Given the description of an element on the screen output the (x, y) to click on. 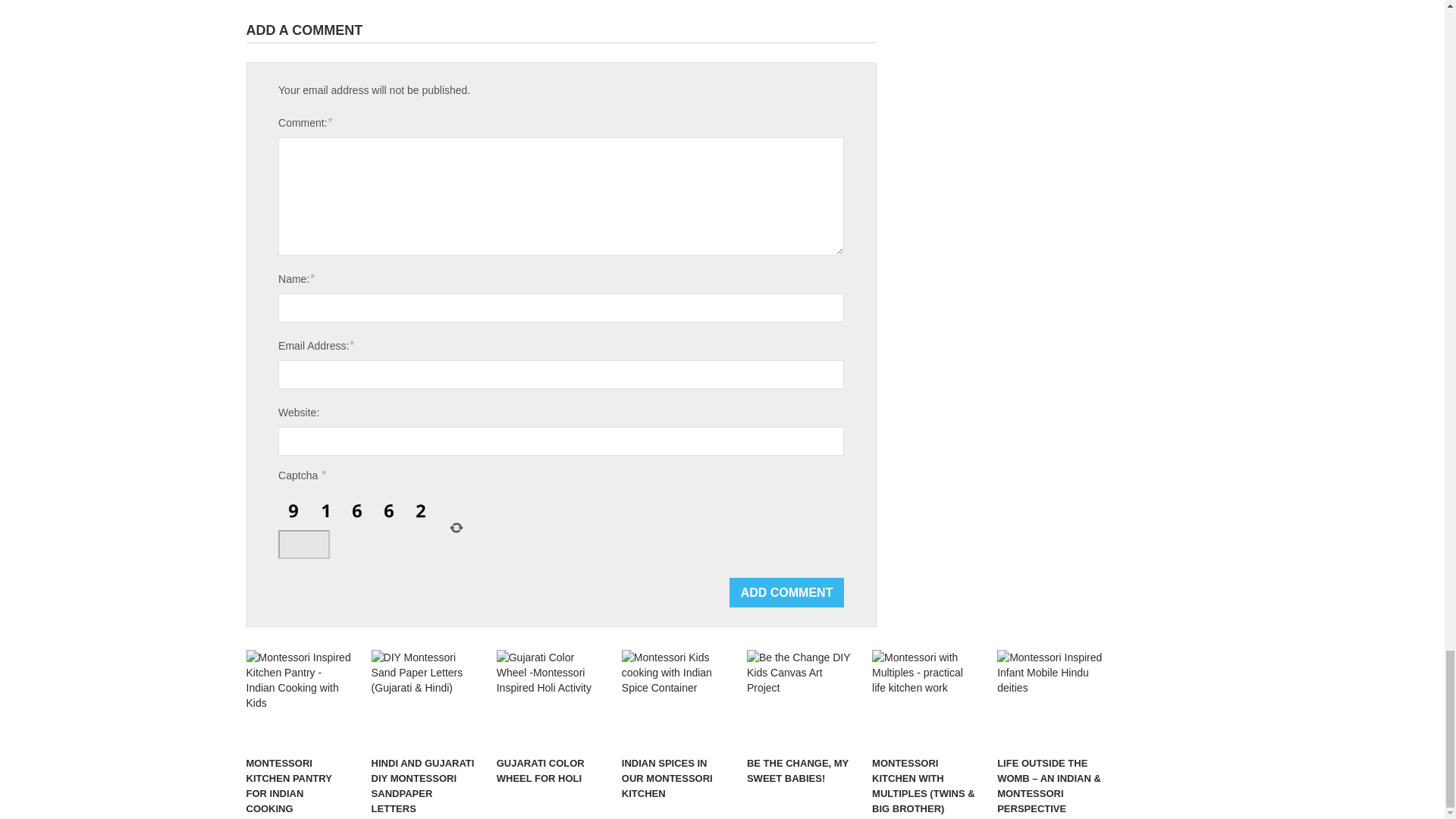
Add Comment (786, 592)
